Given the description of an element on the screen output the (x, y) to click on. 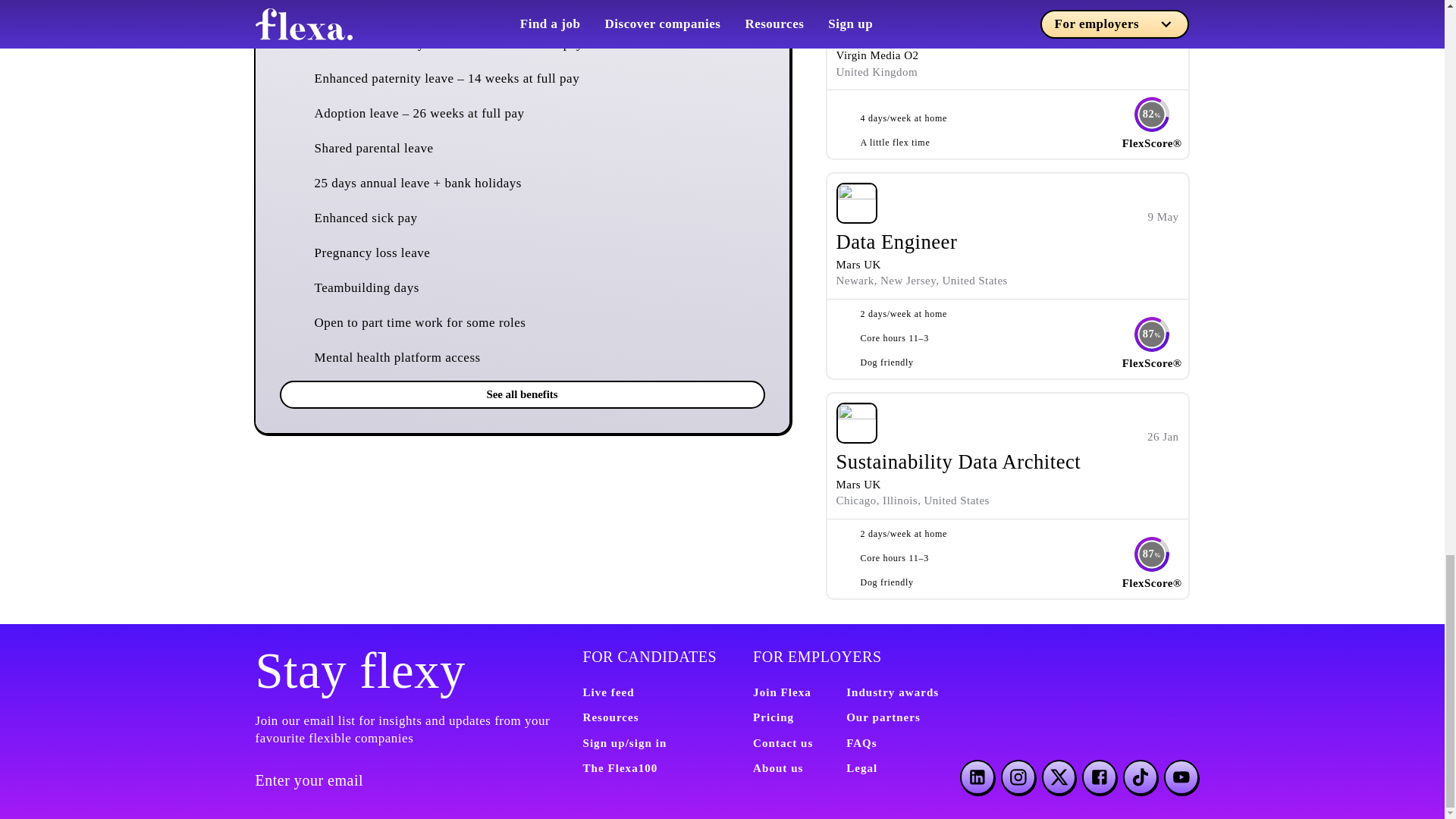
Mars UK (857, 264)
Mars UK (857, 484)
Data Engineer (895, 241)
FAQs (861, 743)
About us (777, 767)
Join Flexa (781, 691)
Legal (861, 767)
See all benefits (521, 394)
Our partners (882, 717)
Industry awards (892, 691)
Sustainability Data Architect (957, 461)
Pricing (772, 717)
The Flexa100 (620, 767)
Live feed (607, 691)
Contact us (782, 743)
